Given the description of an element on the screen output the (x, y) to click on. 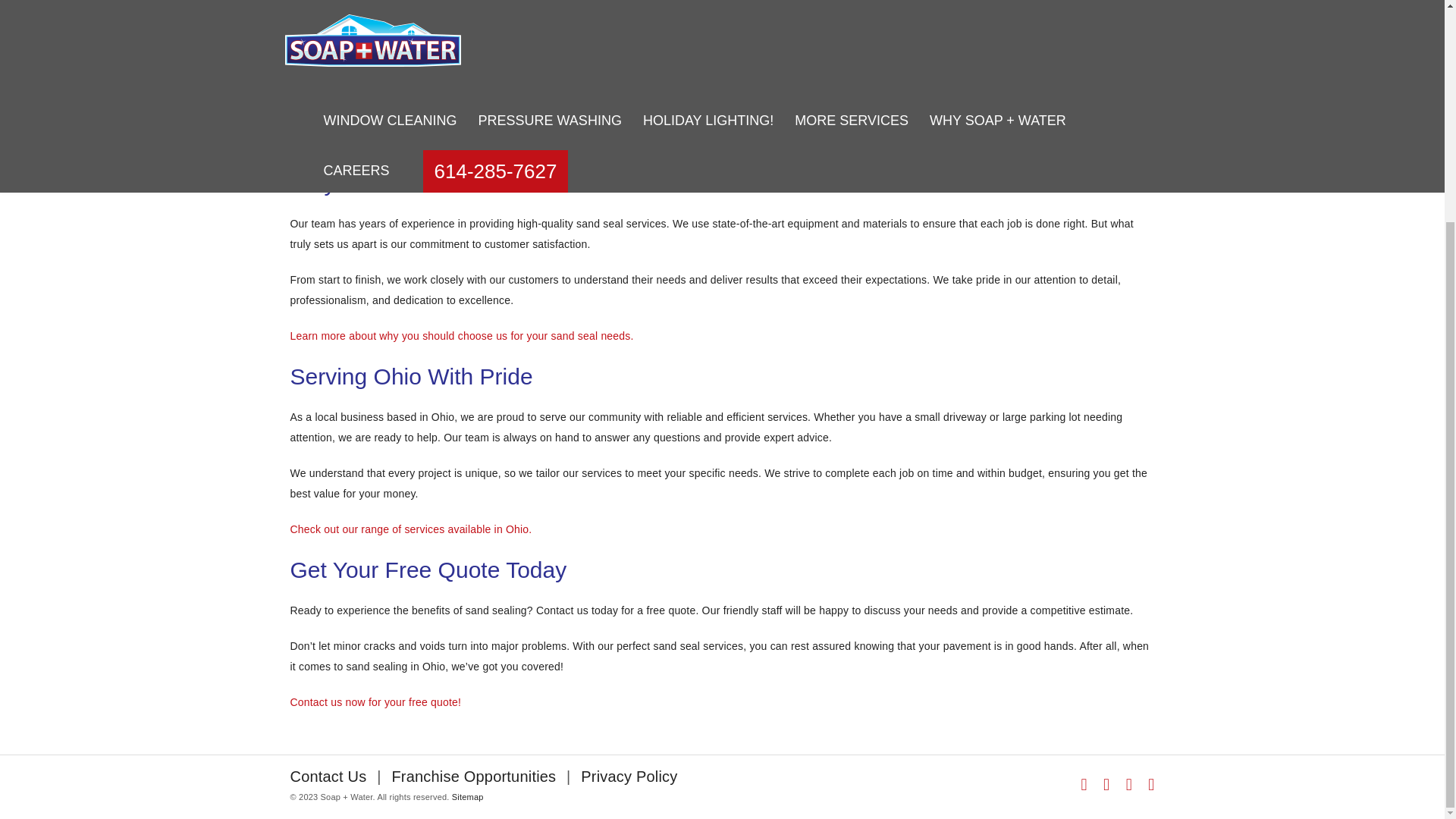
Sitemap (467, 501)
Contact Us (327, 481)
Franchise Opportunities (473, 481)
Check out our range of services available in Ohio. (410, 529)
Privacy Policy (628, 481)
Contact us now for your free quote! (375, 702)
